Given the description of an element on the screen output the (x, y) to click on. 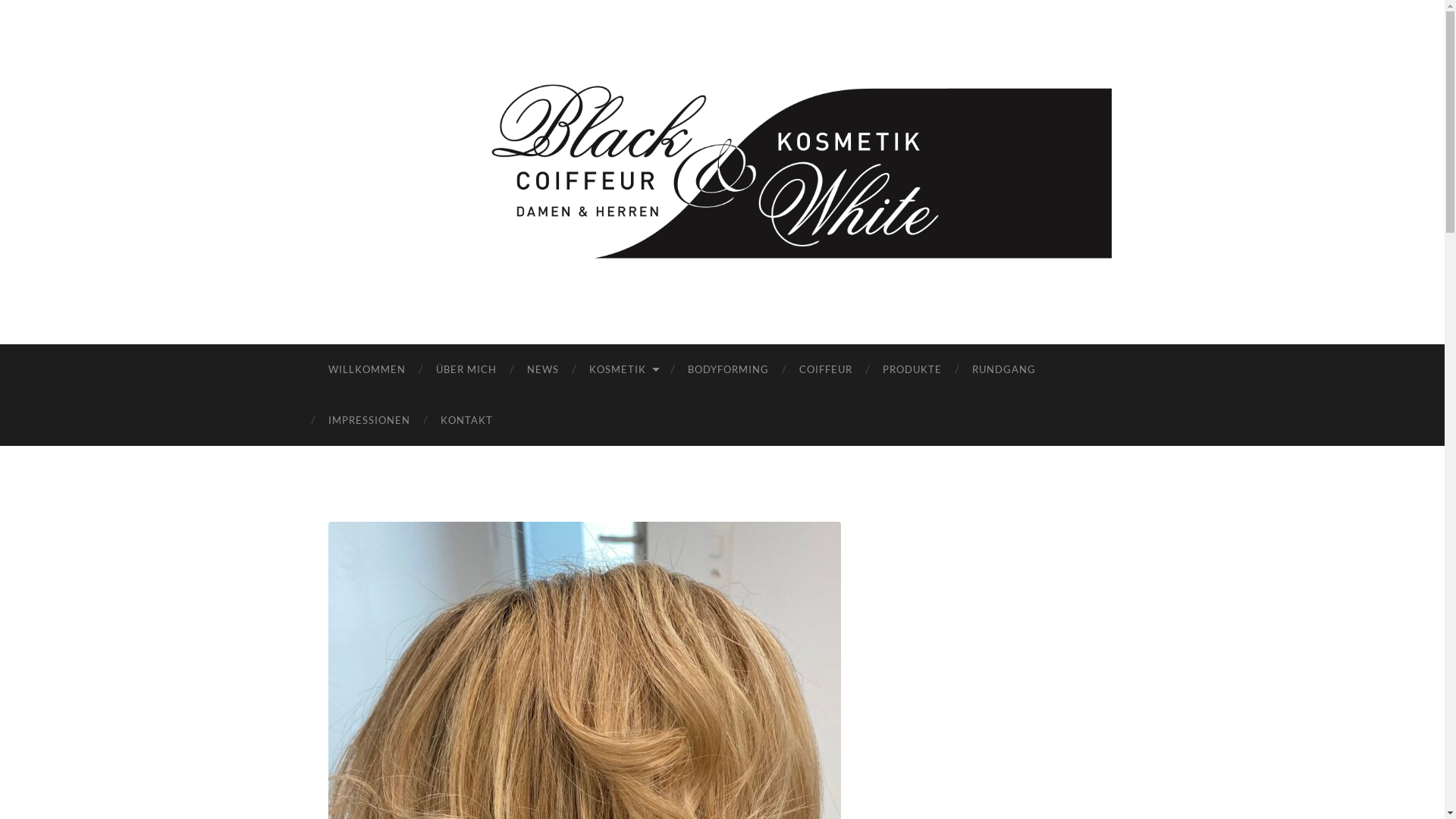
KOSMETIK Element type: text (622, 369)
NEWS Element type: text (542, 369)
blackandwhite Element type: text (722, 170)
COIFFEUR Element type: text (825, 369)
KONTAKT Element type: text (465, 420)
IMPRESSIONEN Element type: text (368, 420)
BODYFORMING Element type: text (727, 369)
WILLKOMMEN Element type: text (366, 369)
PRODUKTE Element type: text (912, 369)
RUNDGANG Element type: text (1004, 369)
